Given the description of an element on the screen output the (x, y) to click on. 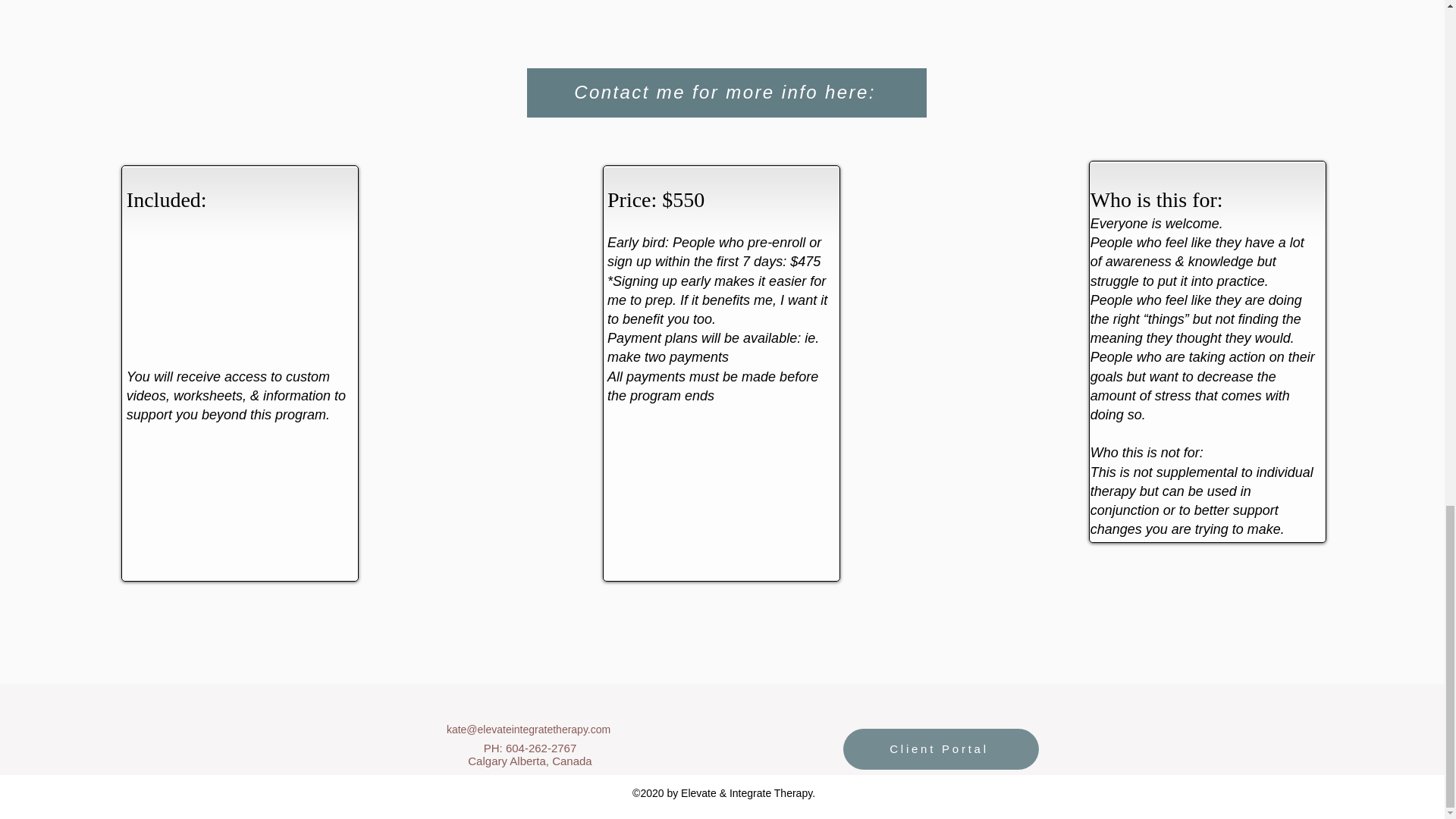
Client Portal (941, 748)
Contact me for more info here: (725, 92)
